Given the description of an element on the screen output the (x, y) to click on. 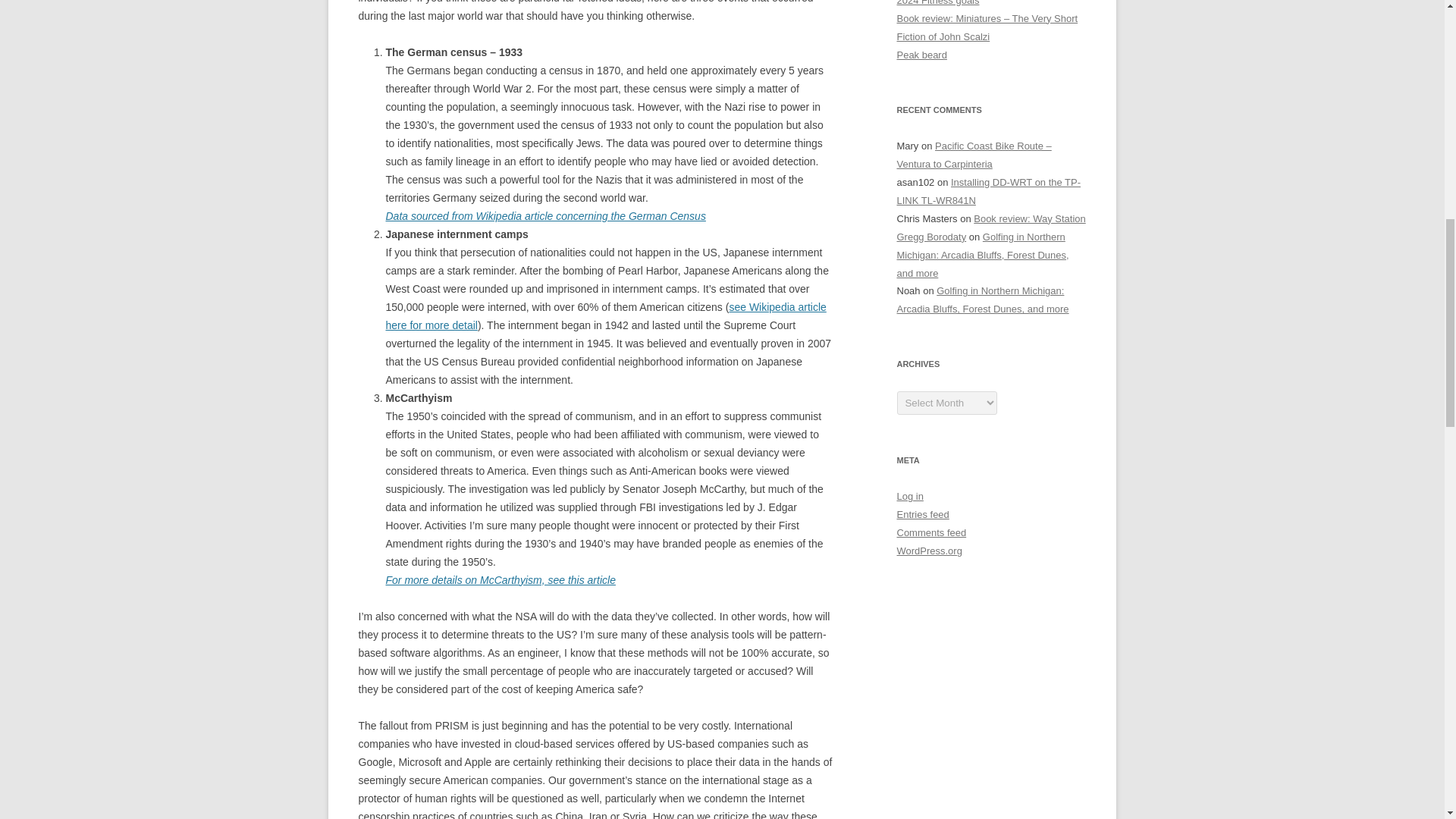
For more details on McCarthyism, see this article (499, 580)
see Wikipedia article here for more detail (605, 316)
